Given the description of an element on the screen output the (x, y) to click on. 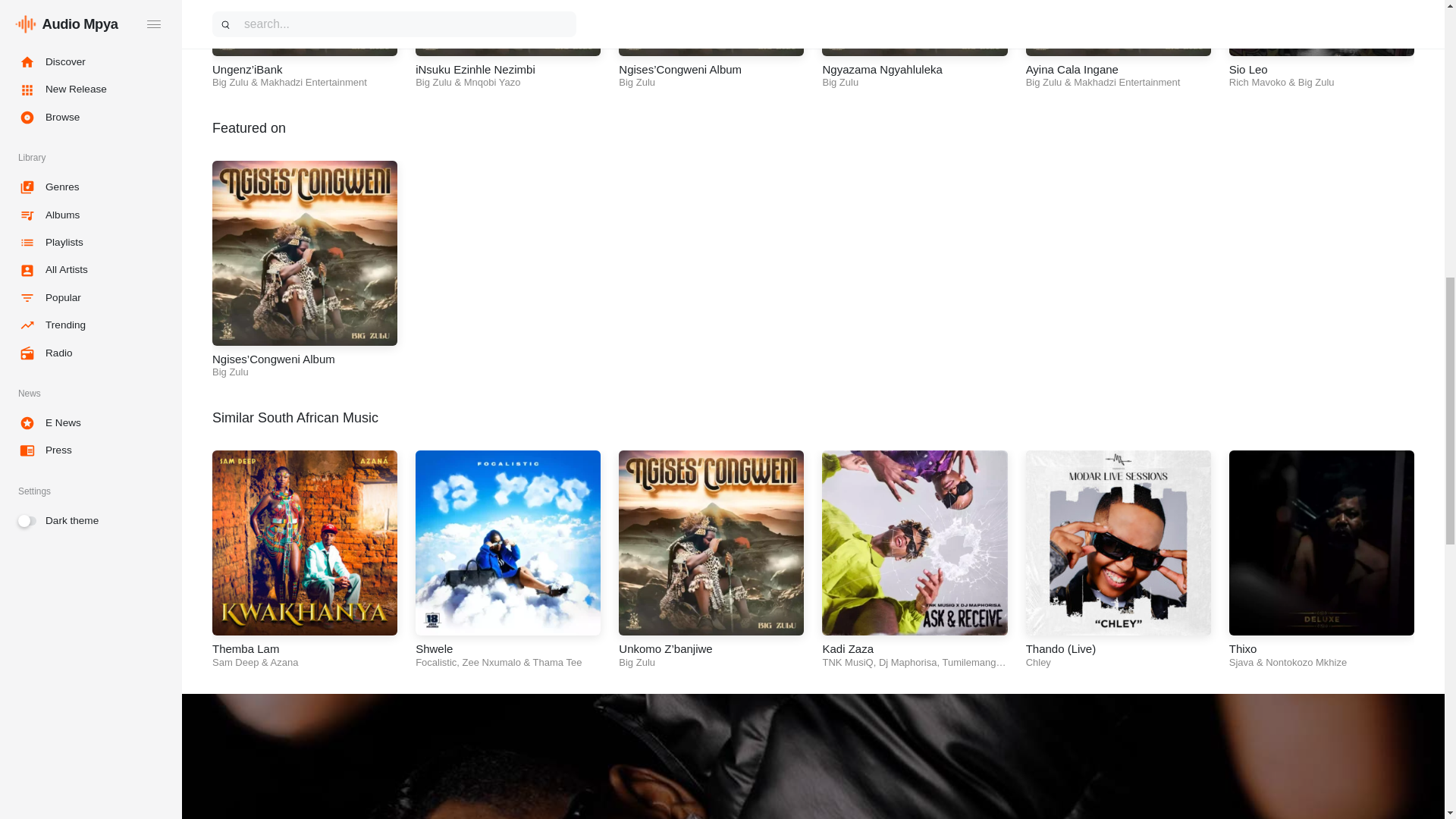
iNsuku Ezinhle Nezimbi (506, 27)
Ayina Cala Ingane (1118, 27)
Unkomo Z'banjiwe (710, 542)
Kadi Zaza (914, 542)
Ungenz'iBank (304, 27)
Ngyazama Ngyahluleka (914, 27)
Sio Leo (1320, 27)
Shwele (506, 542)
Ngises'Congweni Album (304, 252)
Ngises'Congweni Album (710, 27)
